Given the description of an element on the screen output the (x, y) to click on. 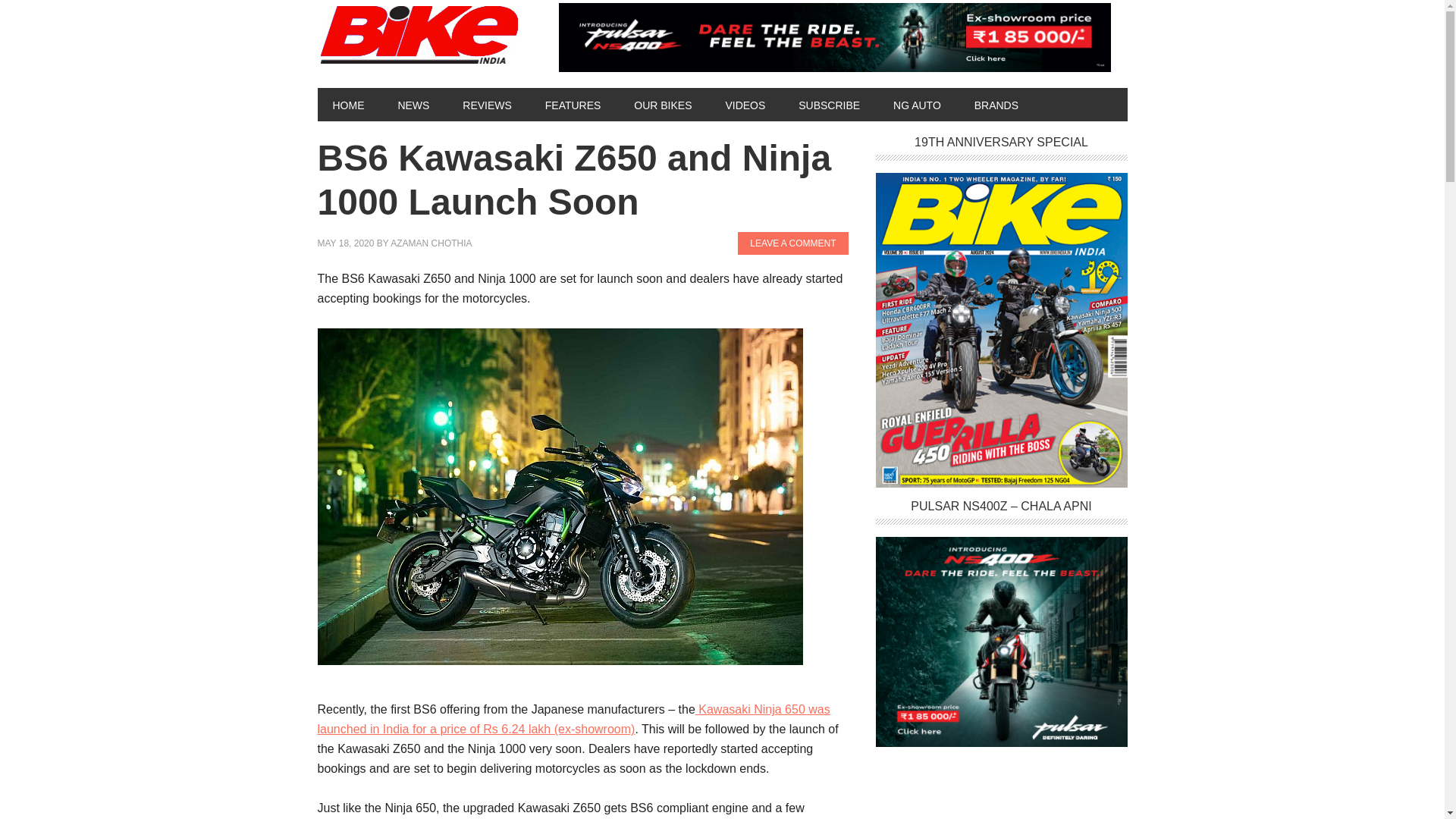
FEATURES (572, 104)
BIKE INDIA (422, 35)
REVIEWS (486, 104)
BRANDS (996, 104)
HOME (347, 104)
NEWS (412, 104)
SUBSCRIBE (829, 104)
OUR BIKES (662, 104)
AZAMAN CHOTHIA (430, 243)
NG AUTO (916, 104)
